Given the description of an element on the screen output the (x, y) to click on. 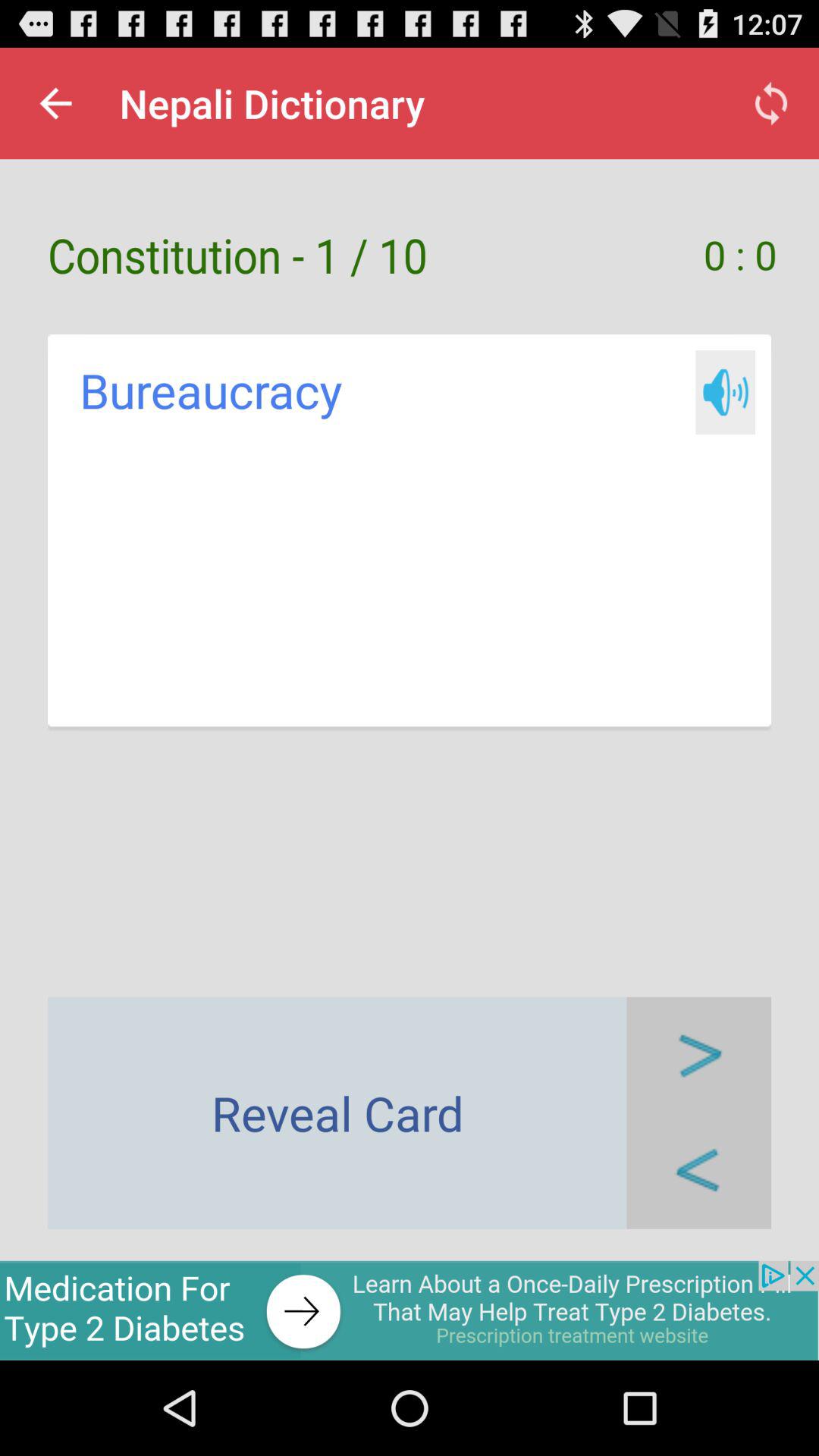
go to next option (698, 1055)
